Given the description of an element on the screen output the (x, y) to click on. 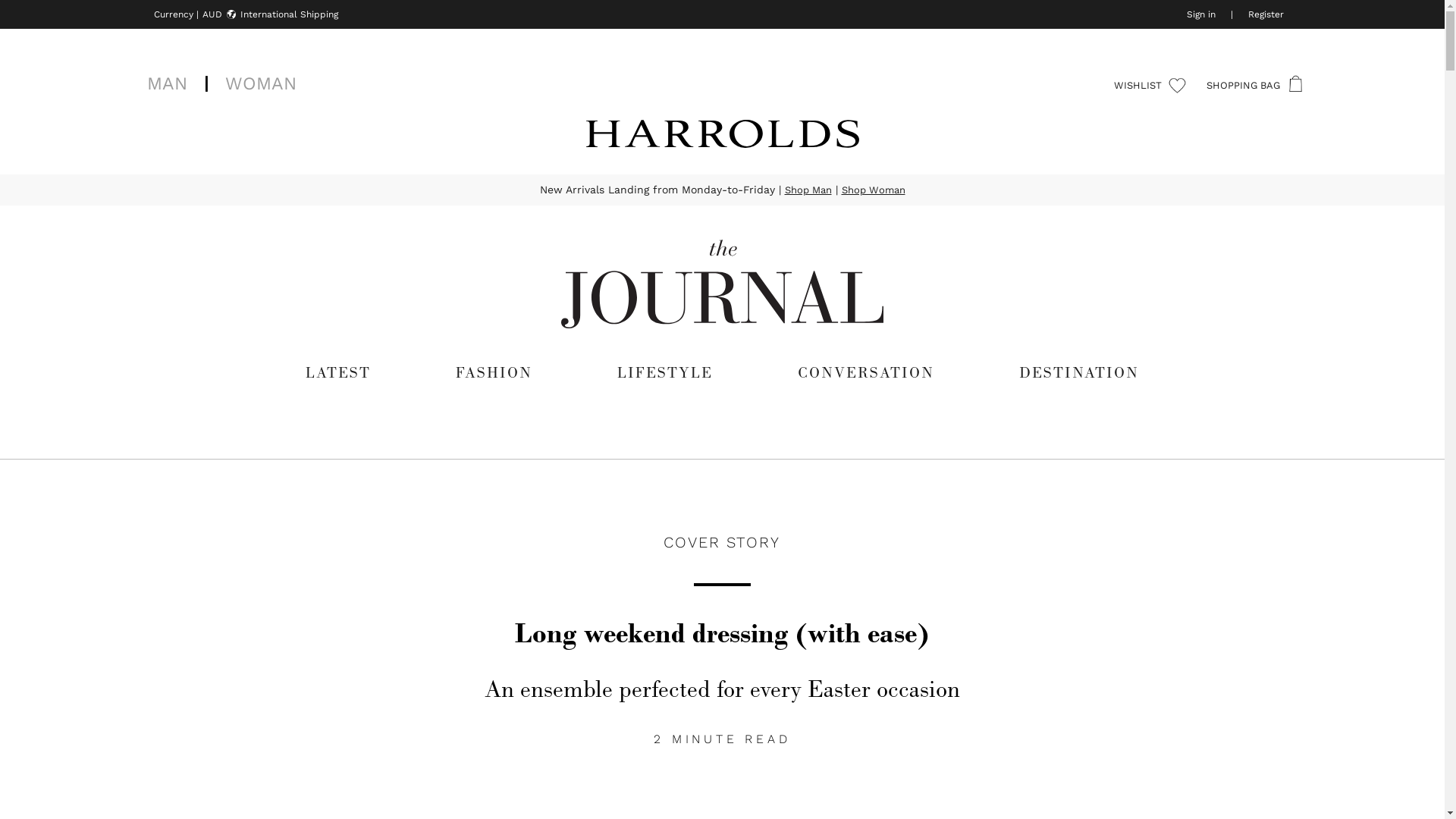
DESTINATION Element type: text (1079, 372)
Shop Man Element type: text (807, 189)
FASHION Element type: text (493, 372)
Sign in Element type: text (1200, 14)
MAN Element type: text (166, 83)
WISHLIST Element type: text (1150, 85)
LATEST Element type: text (337, 372)
WOMAN Element type: text (260, 83)
SHOPPING BAG Element type: text (1250, 85)
CONVERSATION Element type: text (865, 372)
Register Element type: text (1265, 14)
LIFESTYLE Element type: text (664, 372)
